Given the description of an element on the screen output the (x, y) to click on. 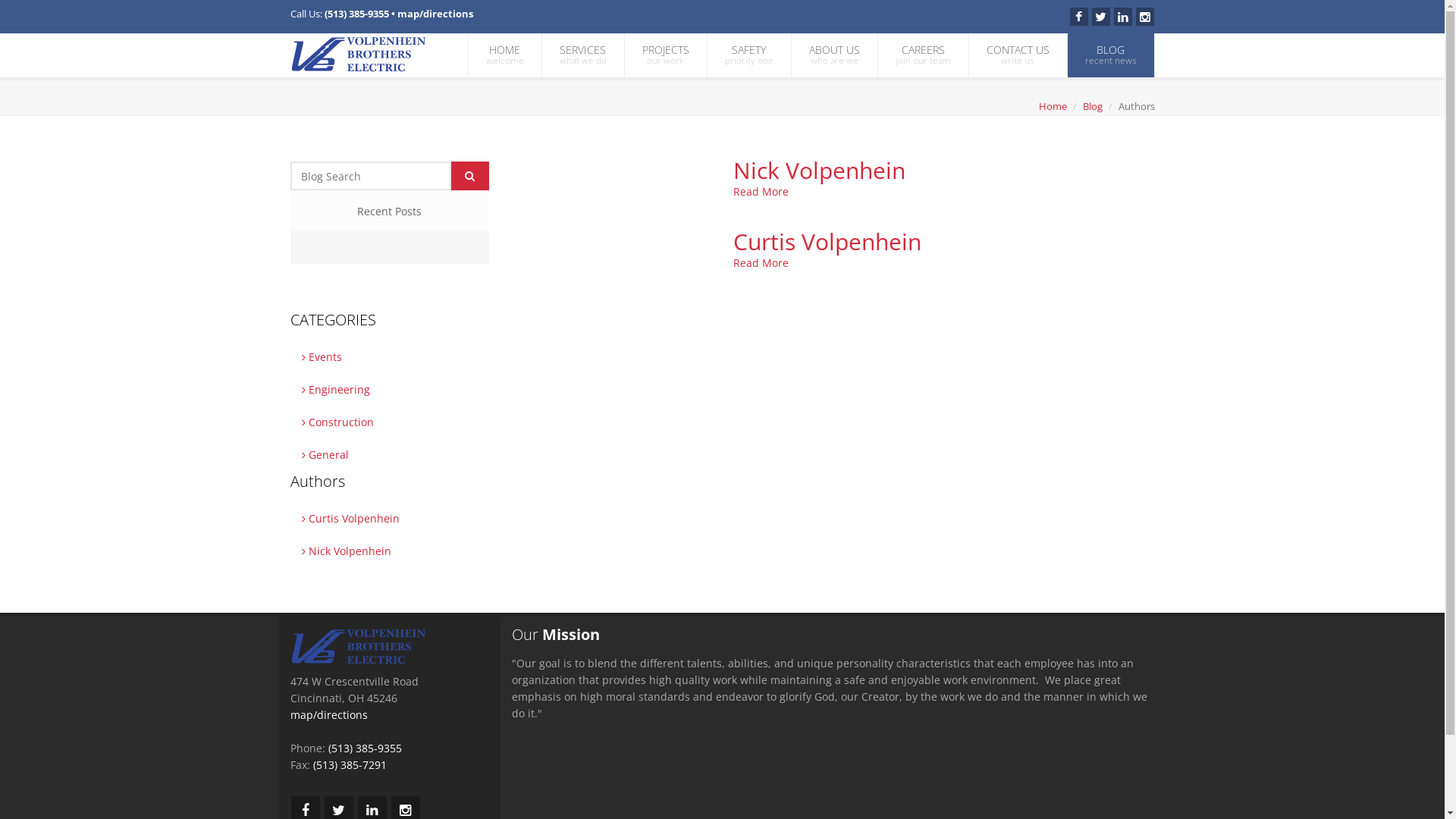
Recent Posts Element type: text (388, 211)
Curtis Volpenhein Element type: text (389, 518)
Home Element type: text (1052, 105)
(513) 385-9355 Element type: text (356, 13)
Engineering Element type: text (389, 389)
Construction Element type: text (389, 421)
CONTACT US
write us Element type: text (1017, 55)
Read More Element type: text (760, 191)
(513) 385-9355 Element type: text (364, 747)
SAFETY
priority one Element type: text (748, 55)
General Element type: text (389, 454)
map/directions Element type: text (328, 714)
SERVICES
what we do Element type: text (582, 55)
Nick Volpenhein Element type: text (819, 169)
(513) 385-7291 Element type: text (348, 764)
Blog Element type: text (1092, 105)
HOME
welcome Element type: text (504, 55)
ABOUT US
who are we Element type: text (834, 55)
Events Element type: text (389, 356)
CAREERS
join our team Element type: text (923, 55)
Nick Volpenhein Element type: text (389, 550)
BLOG
recent news Element type: text (1110, 55)
Read More Element type: text (760, 262)
Curtis Volpenhein Element type: text (827, 241)
PROJECTS
our work Element type: text (665, 55)
map/directions Element type: text (435, 13)
